Given the description of an element on the screen output the (x, y) to click on. 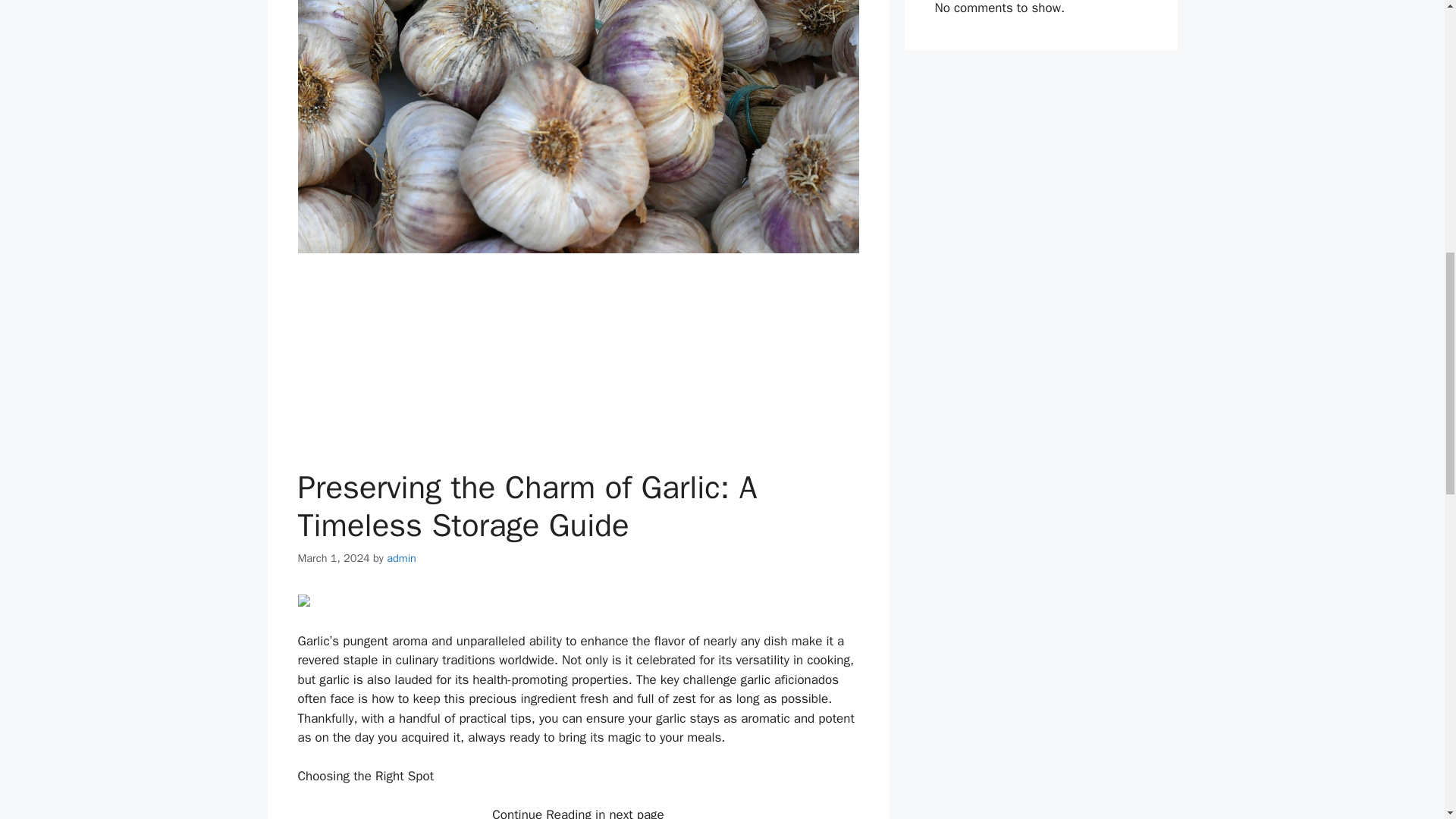
View all posts by admin (401, 558)
admin (401, 558)
